Given the description of an element on the screen output the (x, y) to click on. 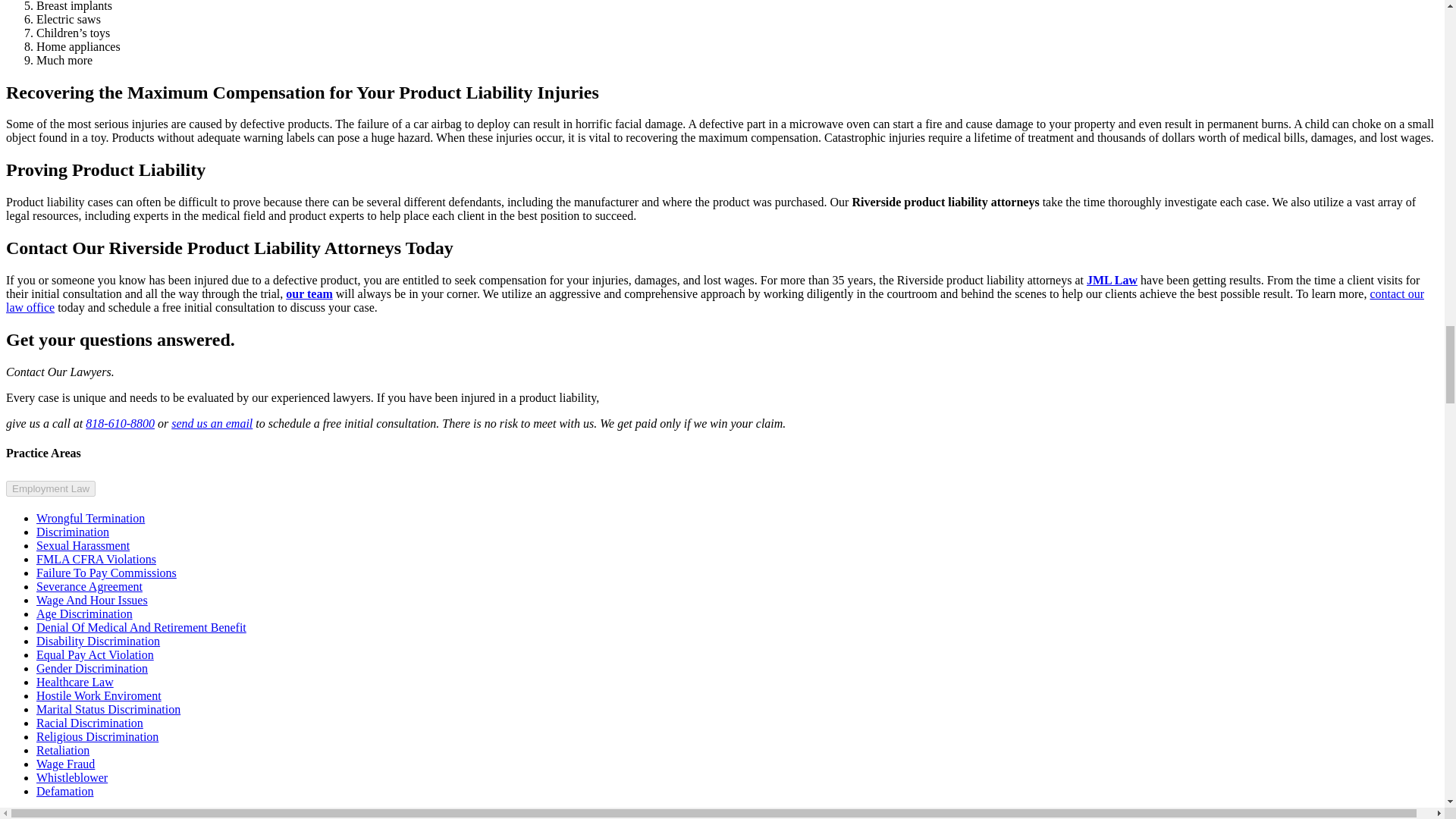
send us an email (211, 422)
contact our law office (714, 300)
